Given the description of an element on the screen output the (x, y) to click on. 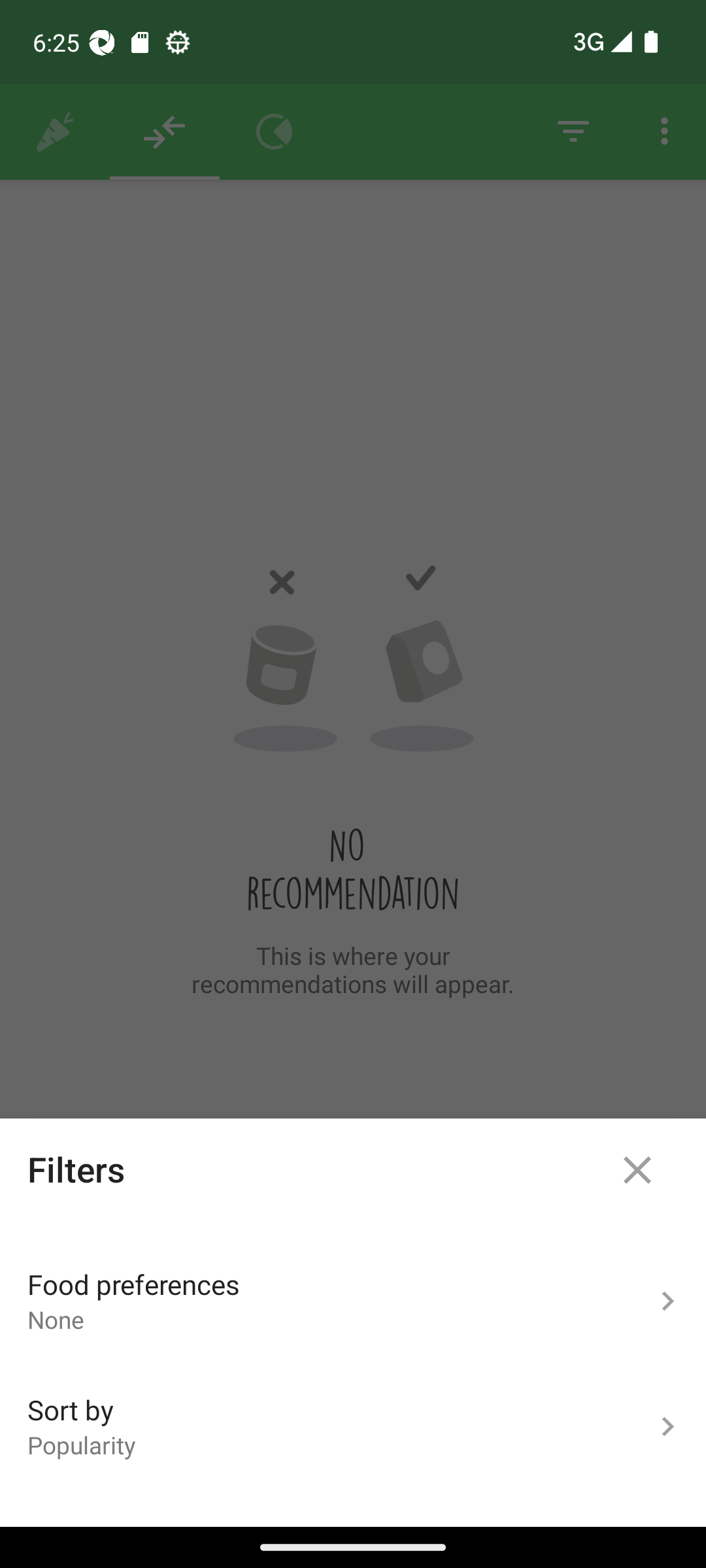
Food preferences None (353, 1301)
Sort by Popularity (353, 1426)
